Given the description of an element on the screen output the (x, y) to click on. 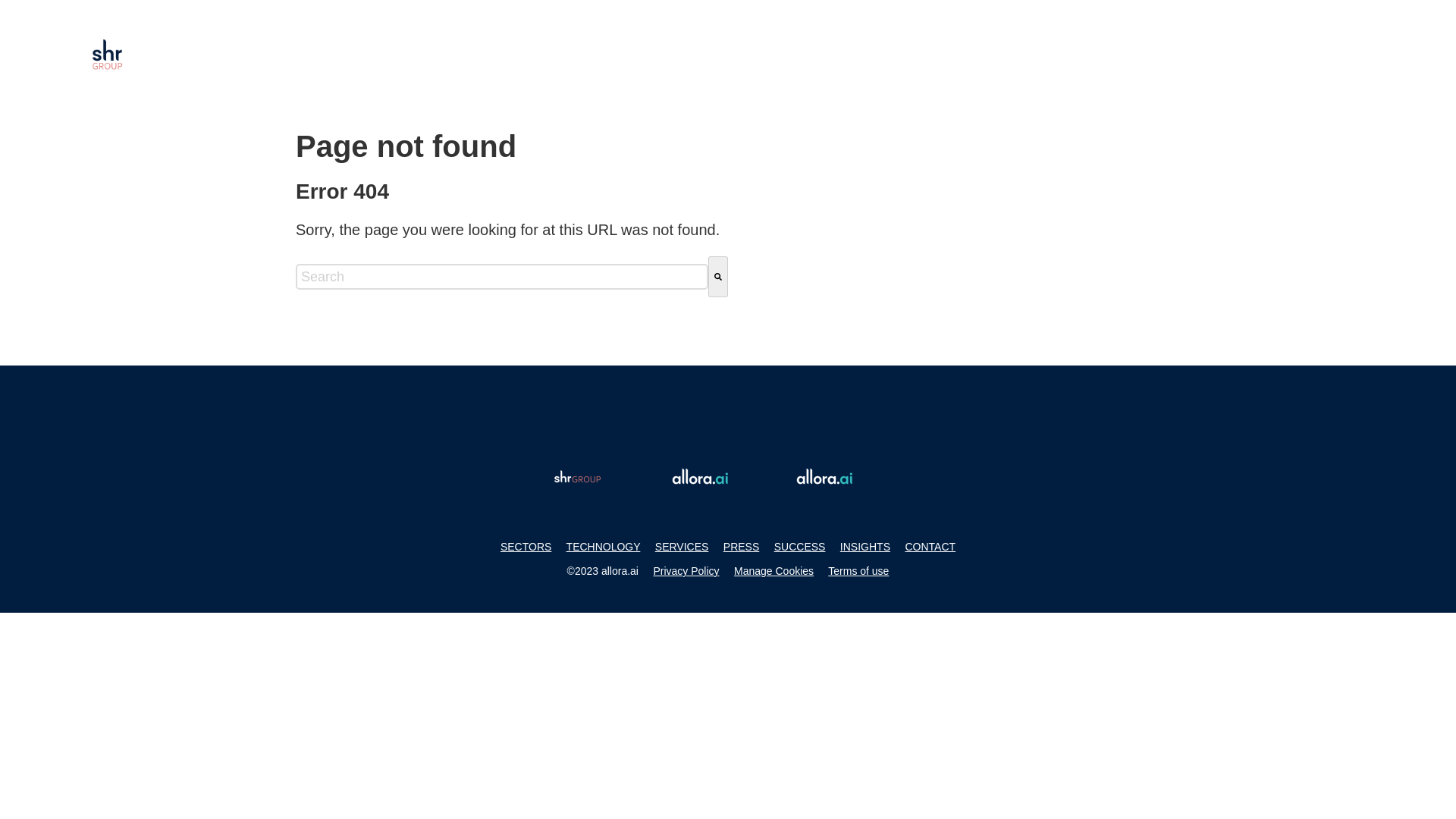
PRESS (740, 546)
SECTORS (525, 546)
TECHNOLOGY (603, 546)
Terms of use (858, 571)
SUCCESS (799, 546)
SERVICES (682, 546)
Manage Cookies (773, 571)
Privacy Policy (685, 571)
INSIGHTS (864, 546)
CONTACT (929, 546)
